Given the description of an element on the screen output the (x, y) to click on. 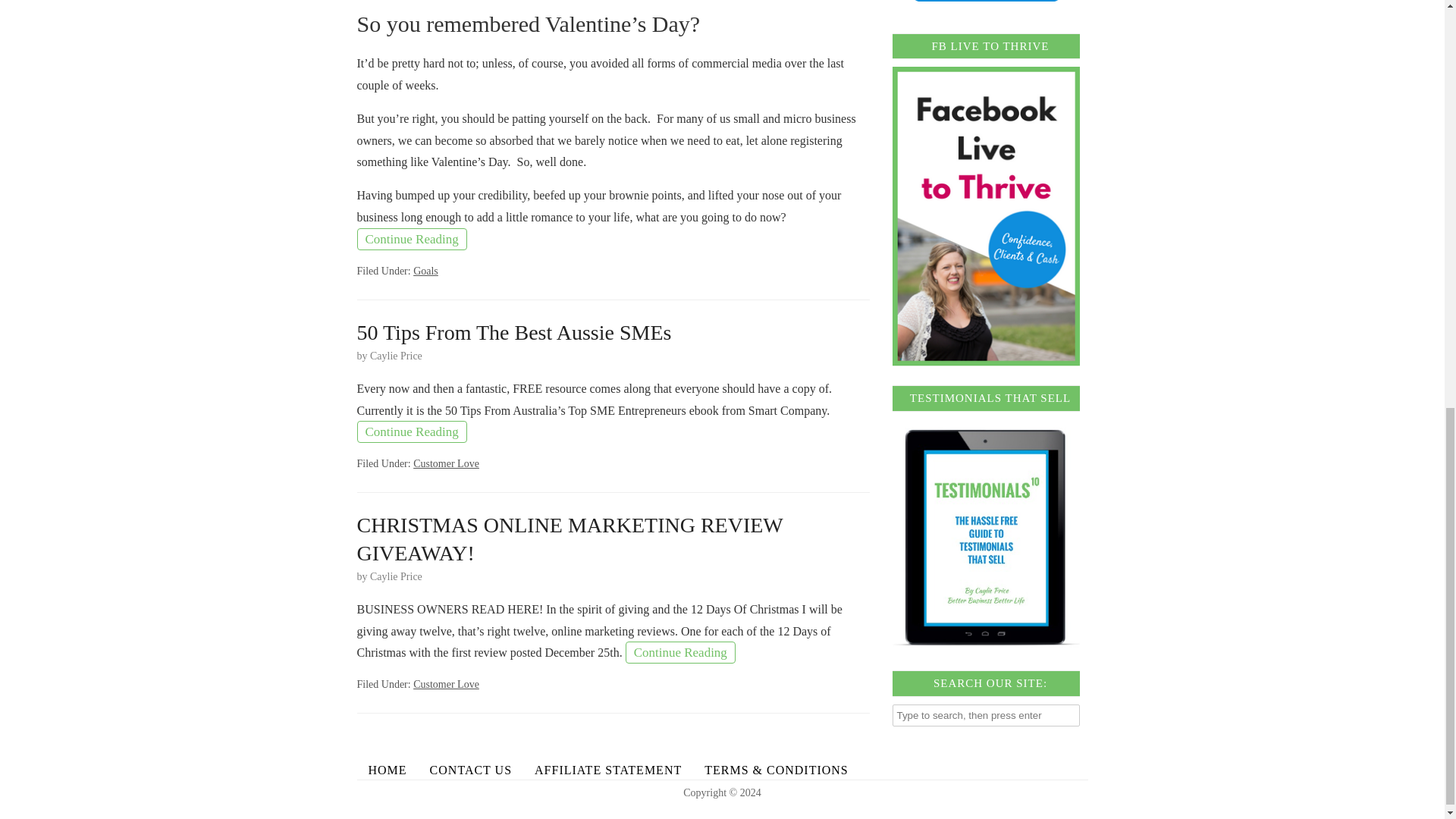
Customer Love (446, 684)
Type to search, then press enter (986, 715)
50 Tips From The Best Aussie SMEs (513, 332)
AFFILIATE STATEMENT (607, 769)
50 Tips From The Best Aussie SMEs (513, 332)
Goals (425, 270)
Customer Love (446, 463)
CHRISTMAS ONLINE MARKETING REVIEW GIVEAWAY! (569, 538)
Continue Reading (410, 239)
HOME (386, 769)
